Given the description of an element on the screen output the (x, y) to click on. 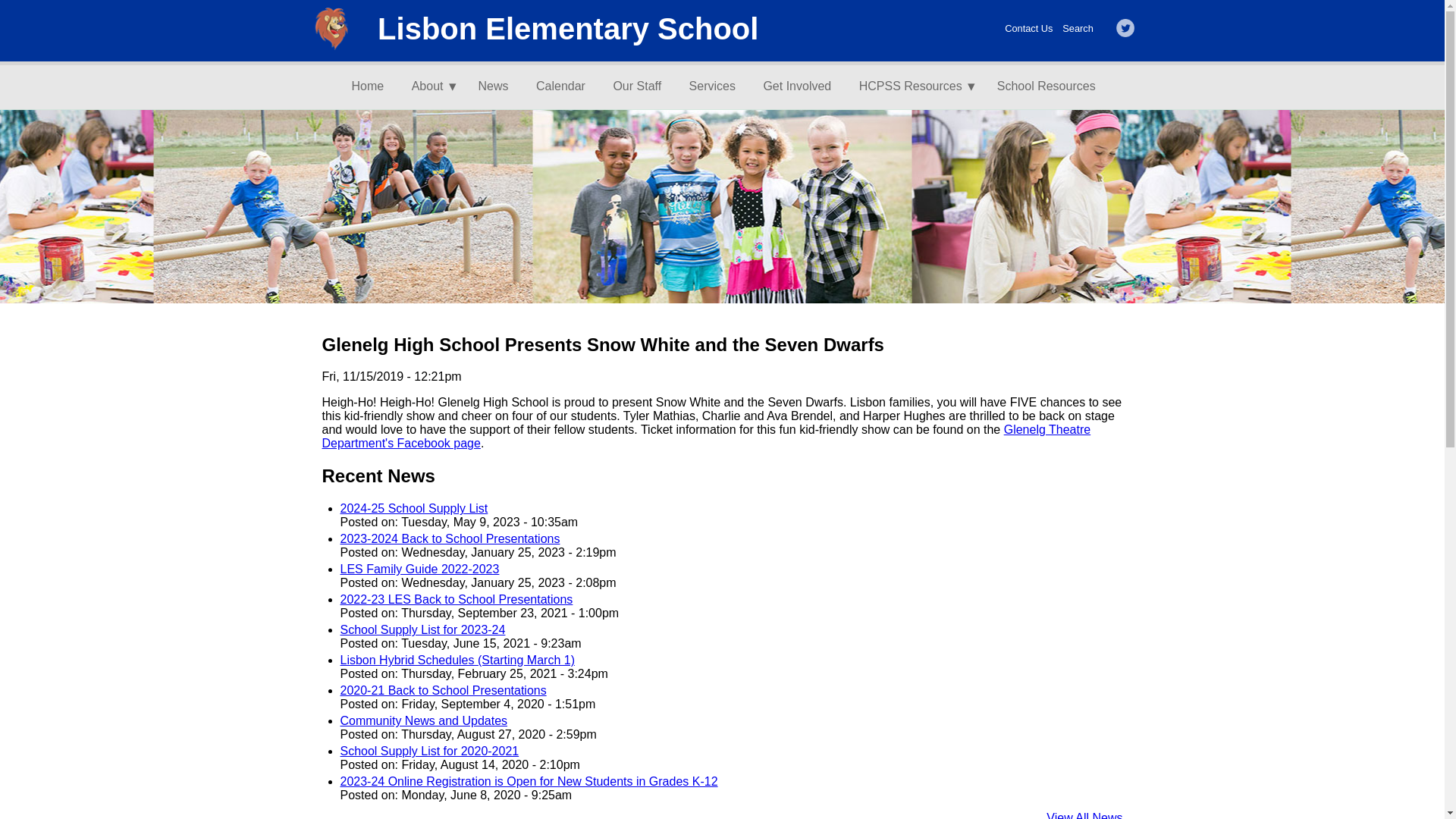
Our Staff (642, 85)
Home (374, 85)
2020-21 Back to School Presentations (442, 689)
Lisbon Elementary School (567, 28)
Services (718, 85)
School Supply List for 2023-24 (422, 629)
Community News and Updates (422, 720)
2024-25 School Supply List (413, 508)
Calendar (565, 85)
2022-23 LES Back to School Presentations (455, 599)
Contact Us (1028, 28)
School Supply List for 2020-2021 (428, 750)
Get Involved (802, 85)
LES Family Guide 2022-2023 (419, 568)
